Given the description of an element on the screen output the (x, y) to click on. 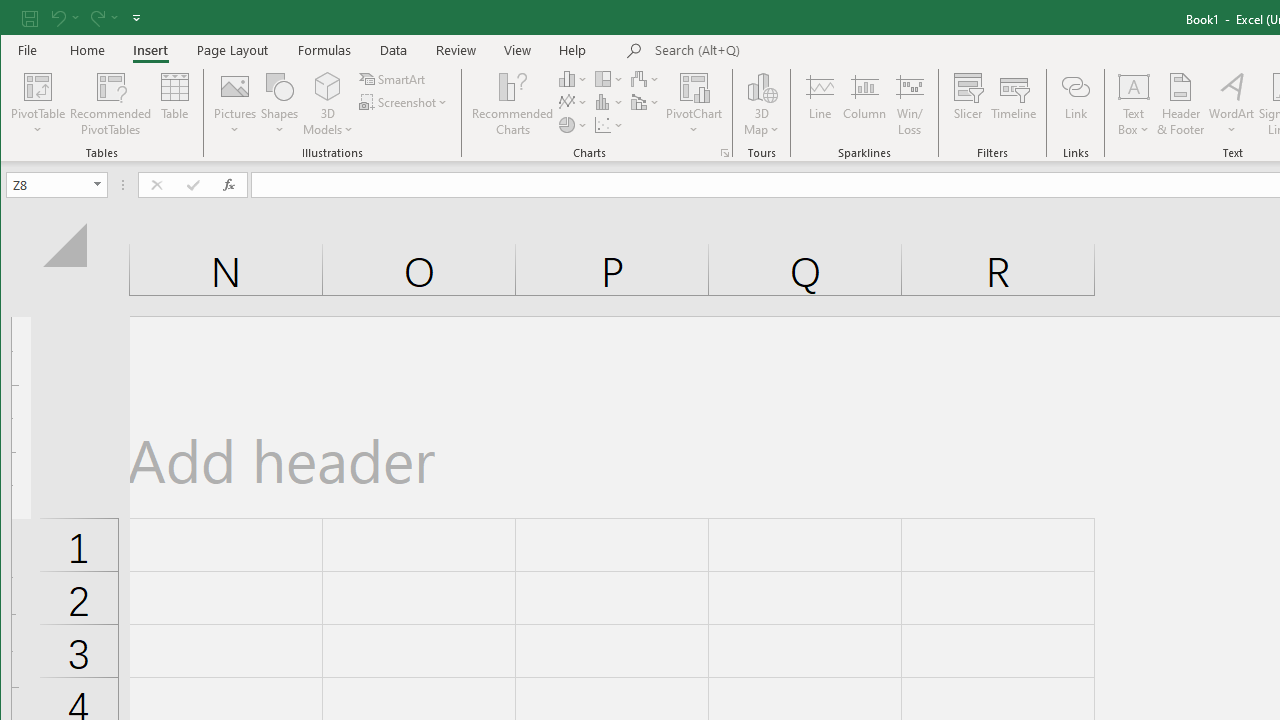
Shapes (279, 104)
Table (174, 104)
3D Models (327, 86)
Line (819, 104)
WordArt (1231, 104)
Screenshot (404, 101)
Insert Line or Area Chart (573, 101)
Insert Column or Bar Chart (573, 78)
